Given the description of an element on the screen output the (x, y) to click on. 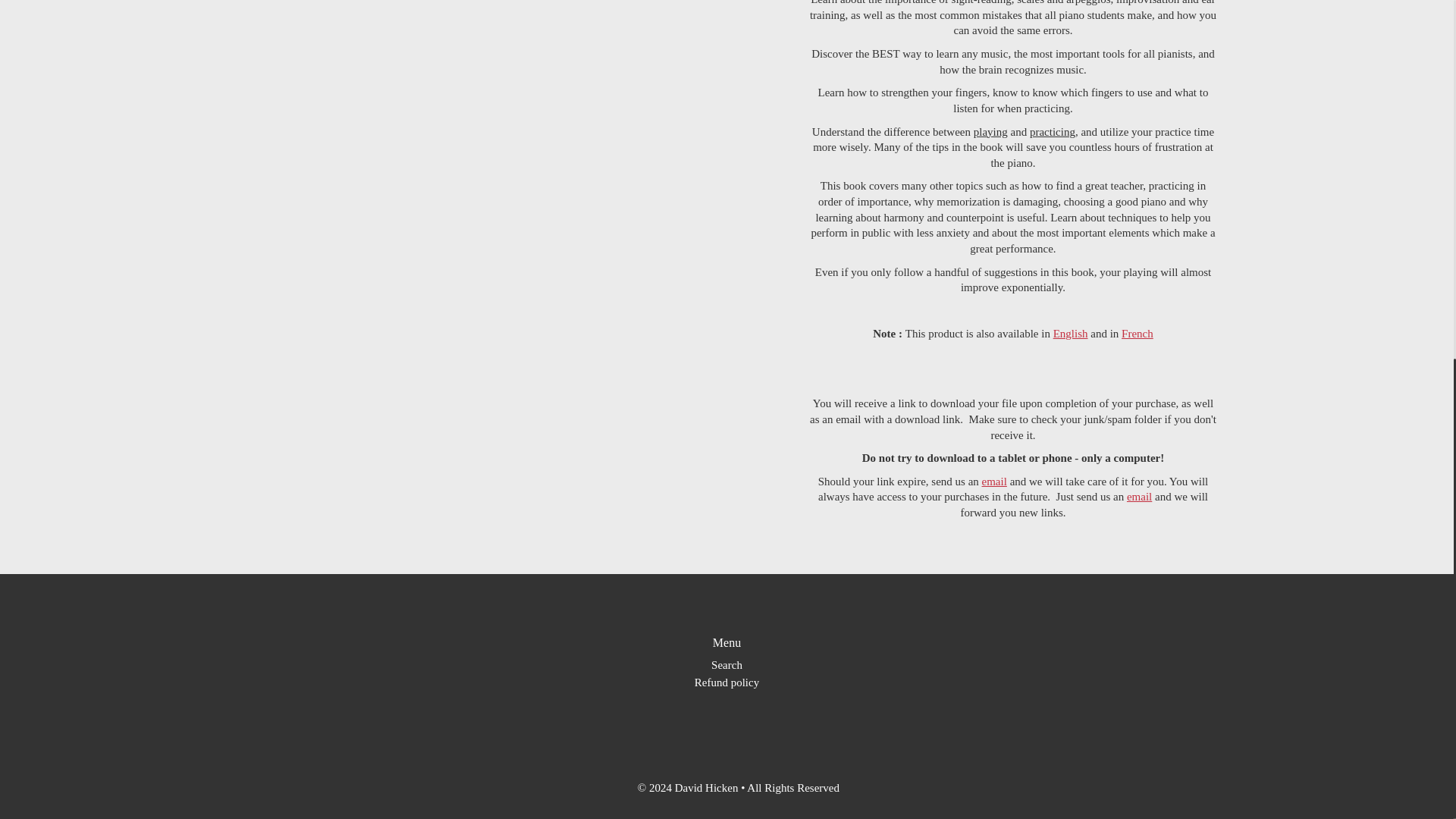
Secrets To Better Piano Playing - English (1069, 333)
Secrets To Better Piano Playing - French (1137, 333)
